Given the description of an element on the screen output the (x, y) to click on. 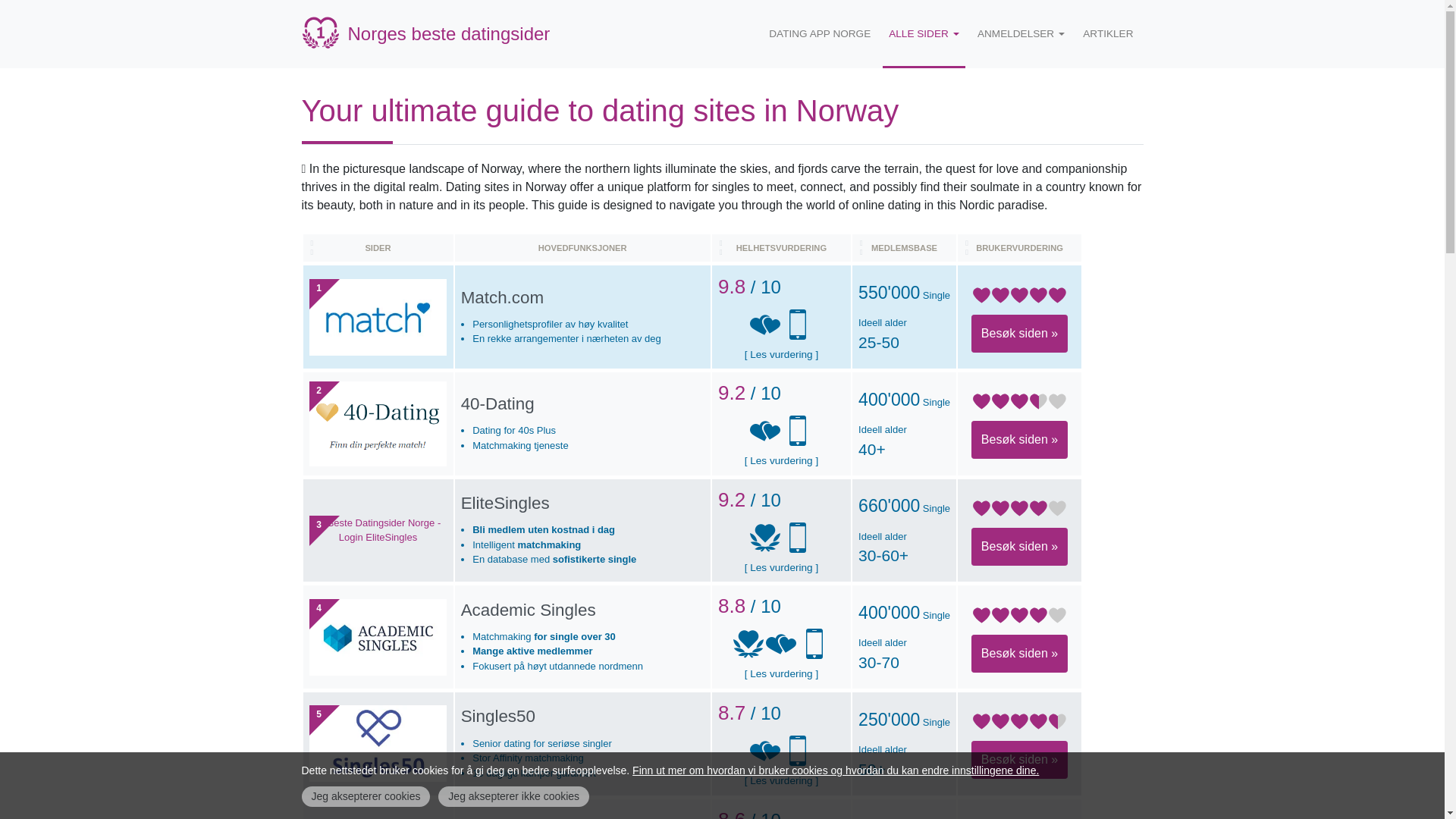
Match.com (502, 297)
ANMELDELSER (1020, 33)
Dating App Norge (819, 33)
2 (377, 422)
Norges beste datingsider (425, 33)
1 (377, 316)
ALLE SIDER (923, 33)
Artikler (1107, 33)
40-Dating (497, 403)
Alle sider (923, 33)
Anmeldelser (1020, 33)
ARTIKLER (1107, 33)
Match.com (502, 297)
DATING APP NORGE (819, 33)
